Given the description of an element on the screen output the (x, y) to click on. 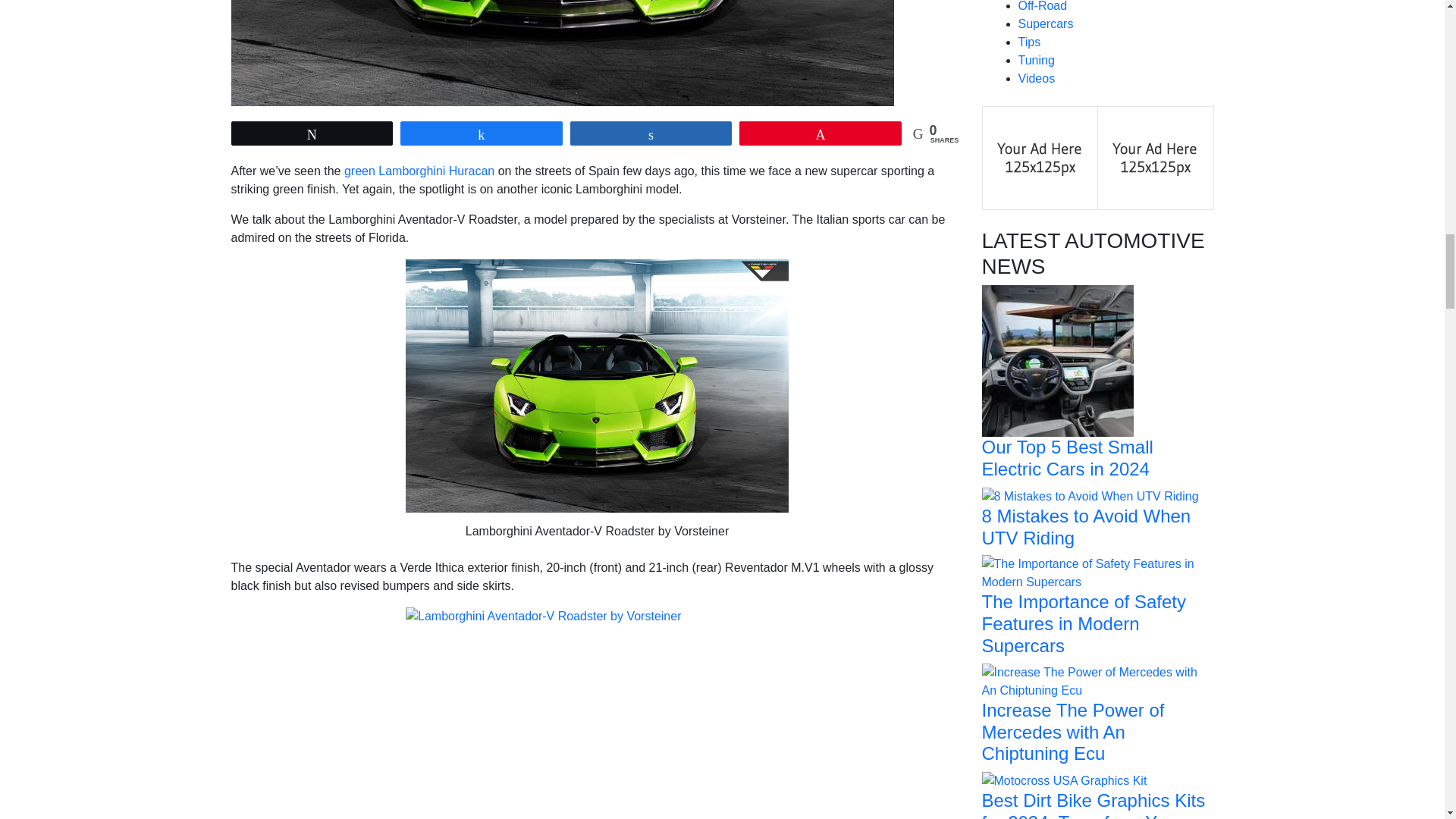
The Importance of Safety Features in Modern Supercars (1096, 572)
8 Mistakes to Avoid When UTV Riding (1089, 495)
Increase The Power of Mercedes with An Chiptuning Ecu (1096, 680)
Advertise (1155, 156)
Our Top 5 Best Small Electric Cars in 2024 (1056, 359)
Advertise (1039, 156)
Best Dirt Bike Graphics Kits for 2024: Transform Your Ride (1064, 779)
